Given the description of an element on the screen output the (x, y) to click on. 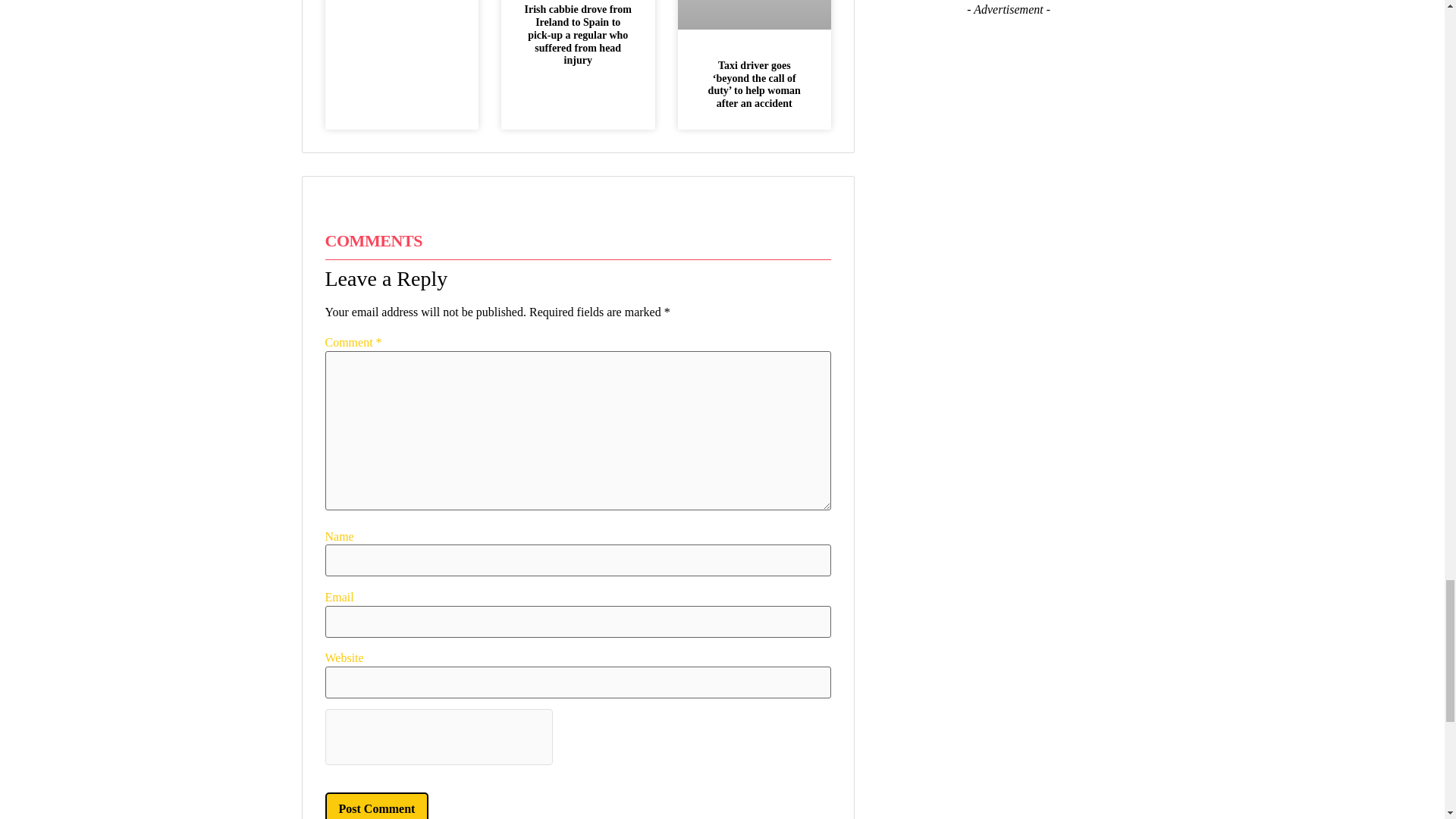
Post Comment (376, 805)
